Given the description of an element on the screen output the (x, y) to click on. 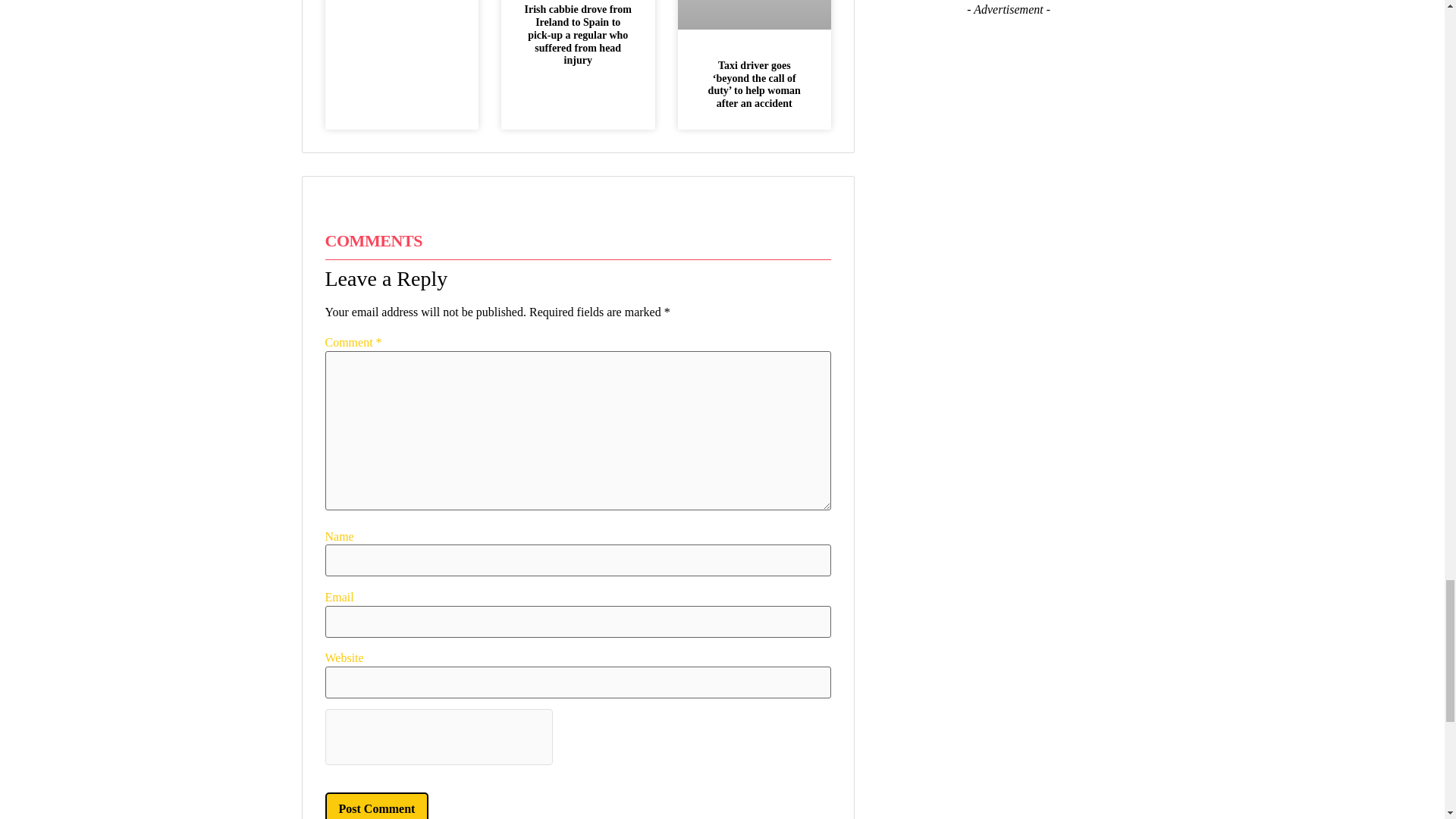
Post Comment (376, 805)
